Given the description of an element on the screen output the (x, y) to click on. 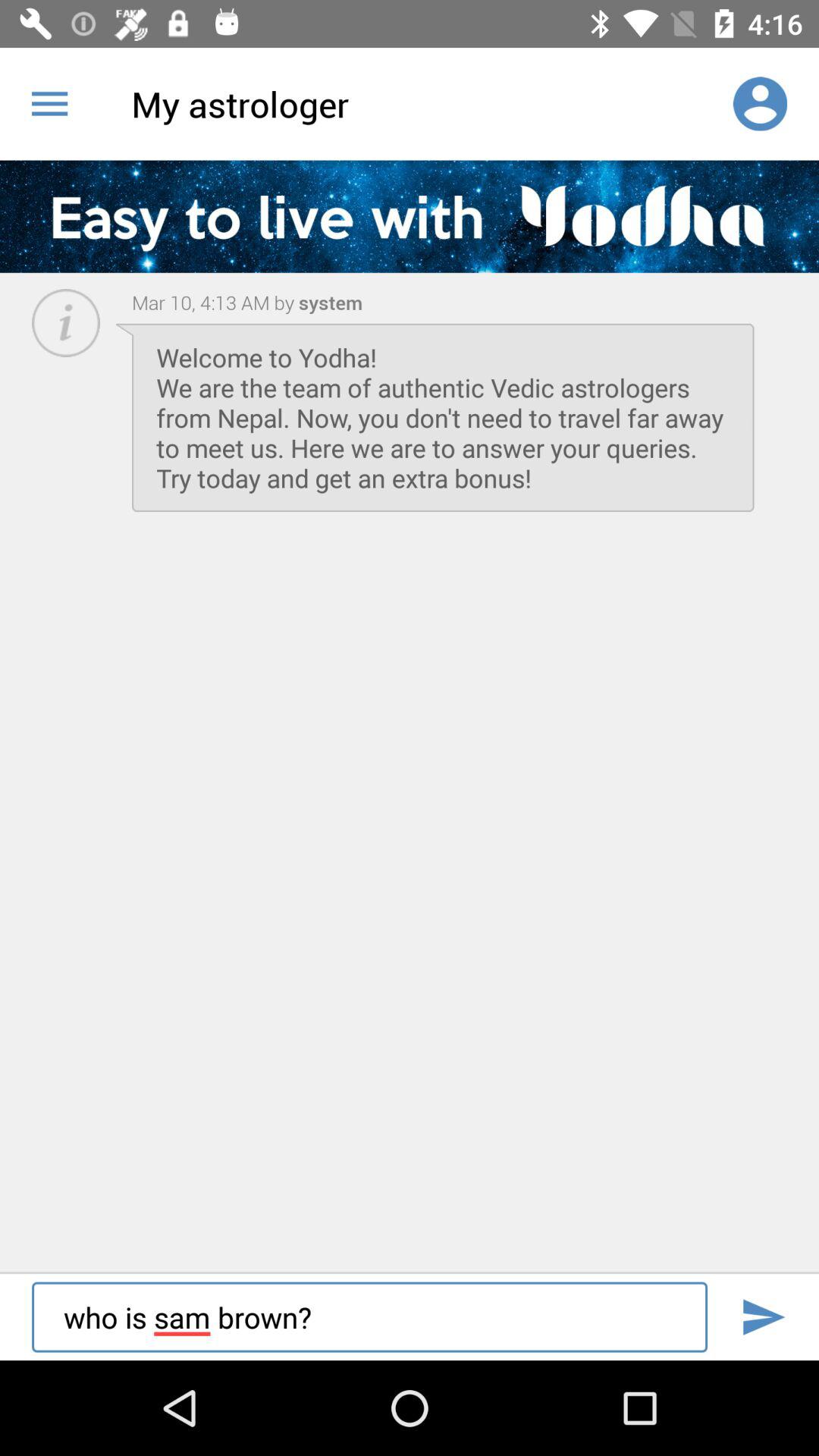
jump until mar 10 4 item (212, 302)
